Given the description of an element on the screen output the (x, y) to click on. 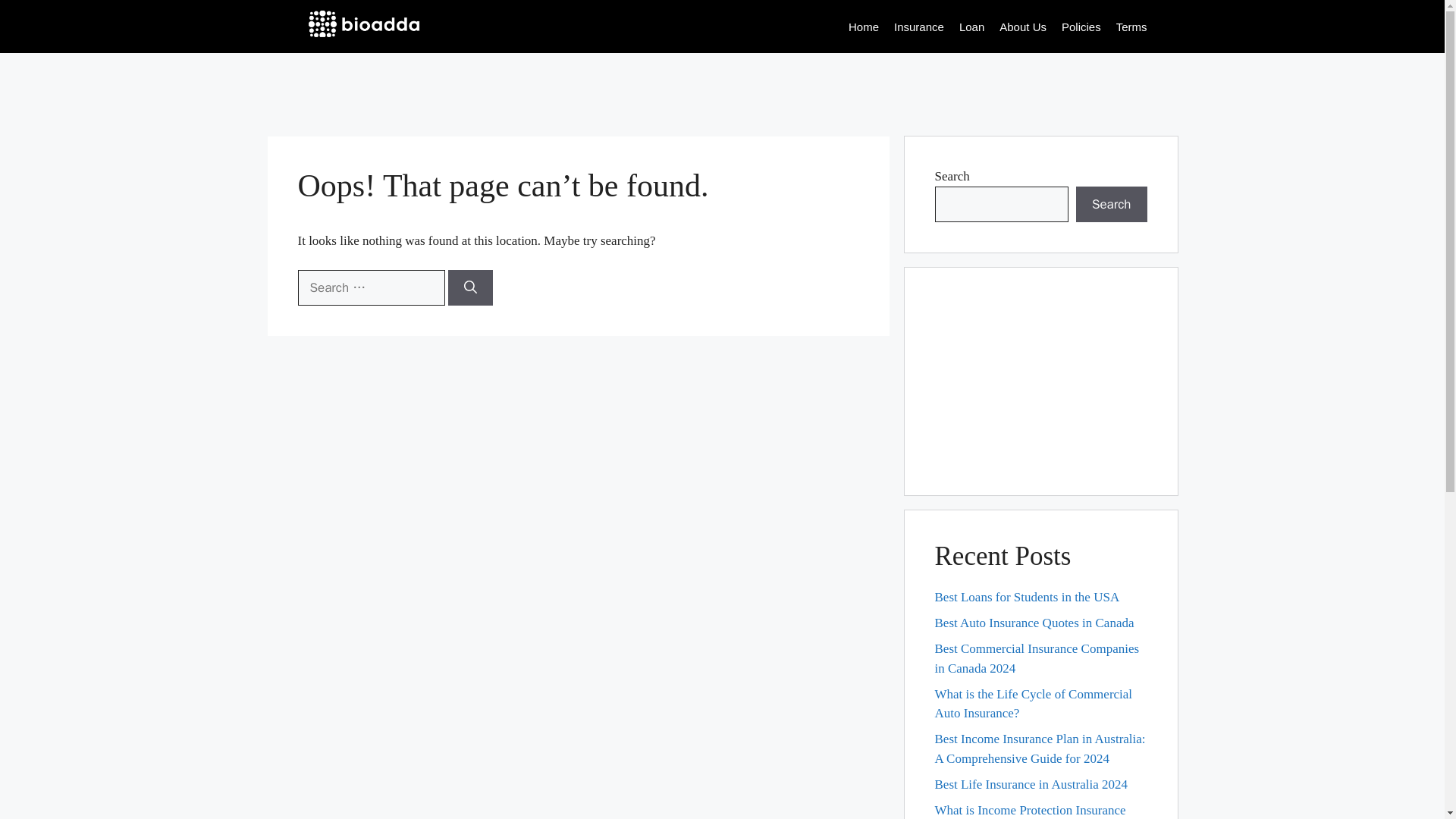
What is the Life Cycle of Commercial Auto Insurance? (1033, 704)
Best Loans for Students in the USA (1026, 596)
Search for: (370, 288)
Best Life Insurance in Australia 2024 (1030, 784)
What is Income Protection Insurance 2024? (1029, 811)
Best Commercial Insurance Companies in Canada 2024 (1036, 658)
Insurance (918, 26)
Home (863, 26)
Best Auto Insurance Quotes in Canada (1034, 622)
